Given the description of an element on the screen output the (x, y) to click on. 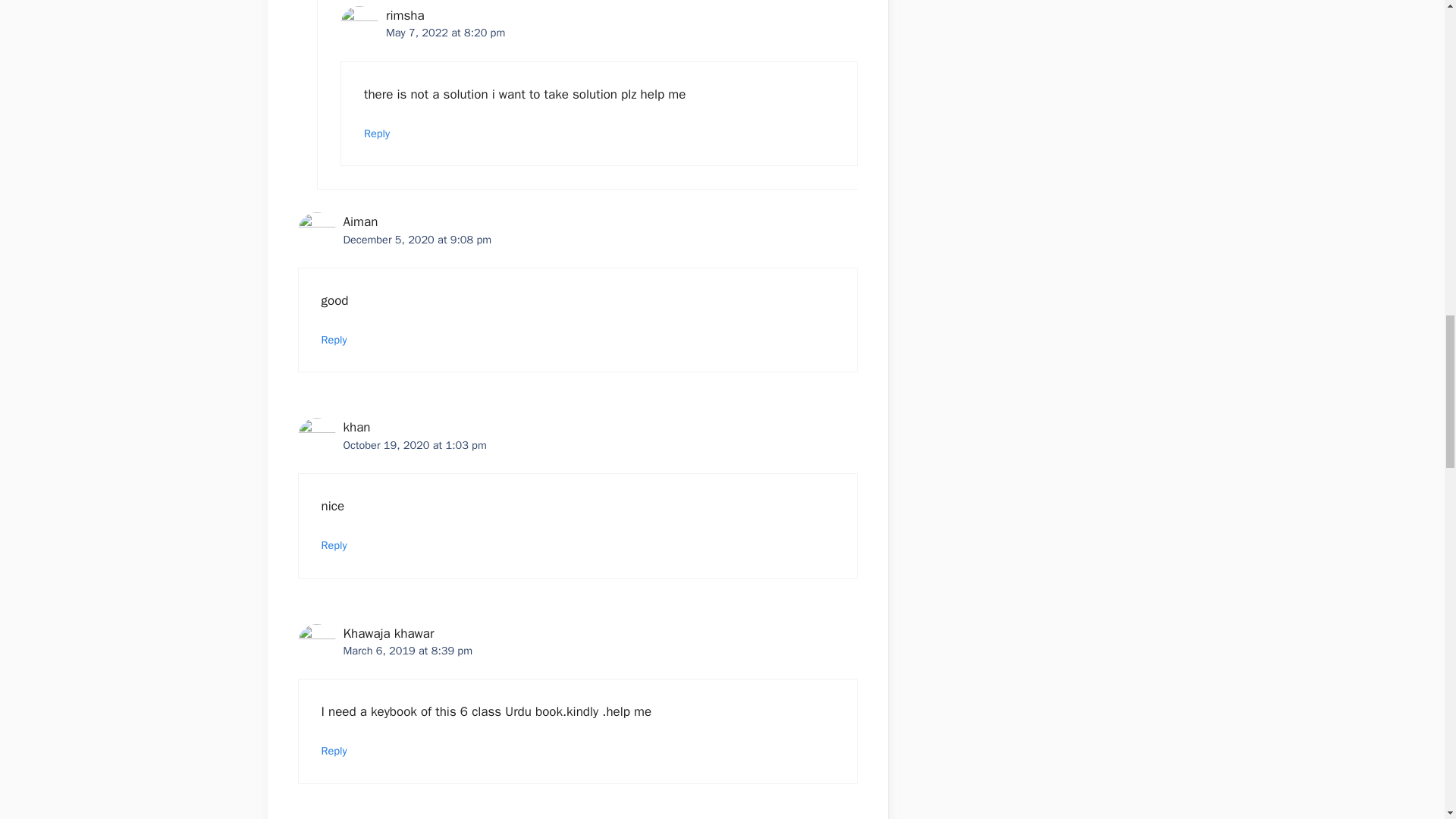
Reply (377, 133)
May 7, 2022 at 8:20 pm (445, 32)
